Given the description of an element on the screen output the (x, y) to click on. 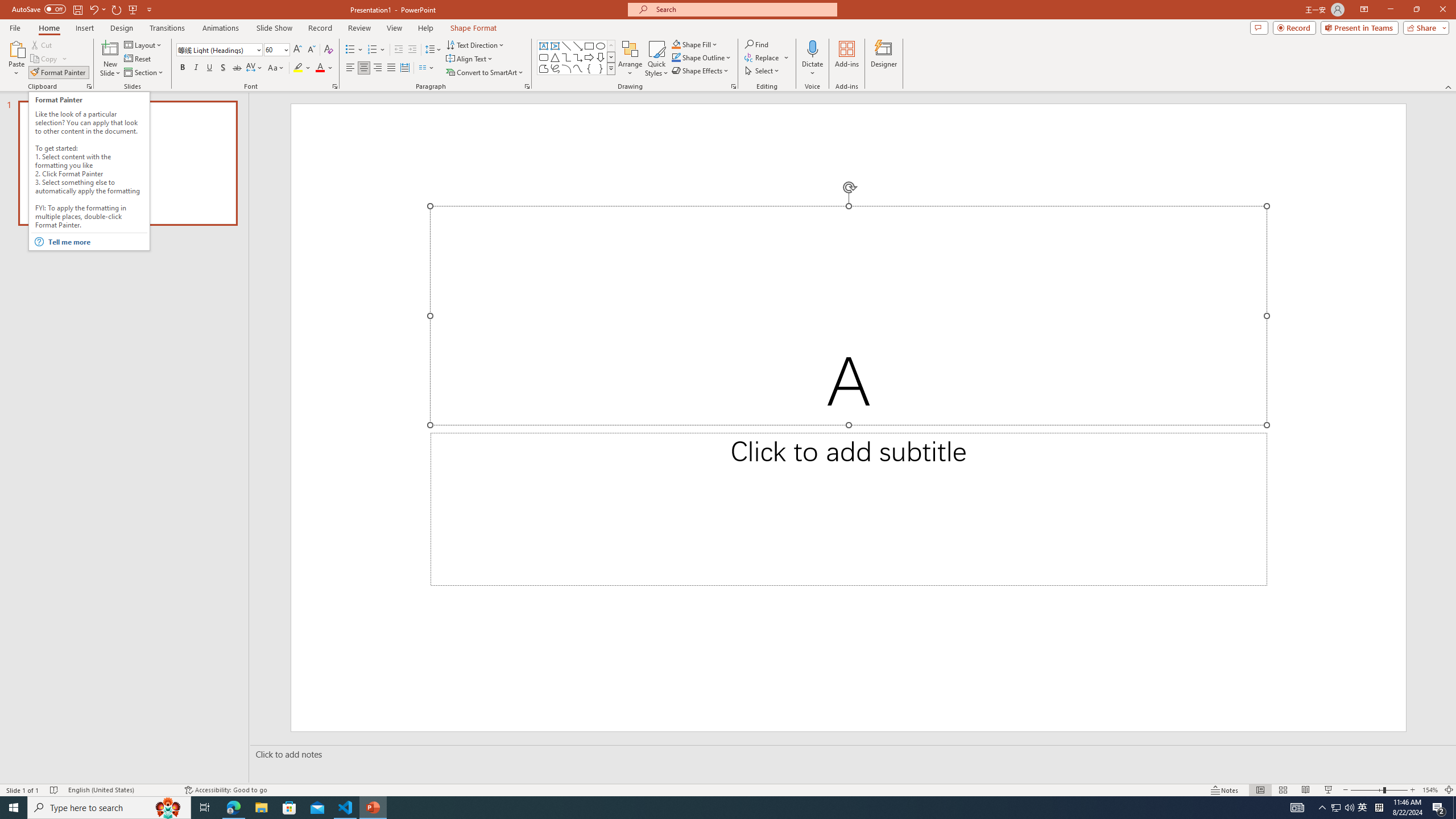
Decrease Font Size (310, 49)
Arrange (630, 58)
Row up (611, 45)
Vertical Text Box (554, 45)
Record (1294, 27)
Zoom to Fit  (1449, 790)
Line Arrow (577, 45)
Dictate (812, 58)
Class: MsoCommandBar (728, 789)
Connector: Elbow Arrow (577, 57)
Increase Indent (412, 49)
Font... (334, 85)
Text Highlight Color Yellow (297, 67)
Shape Fill (694, 44)
View (395, 28)
